Given the description of an element on the screen output the (x, y) to click on. 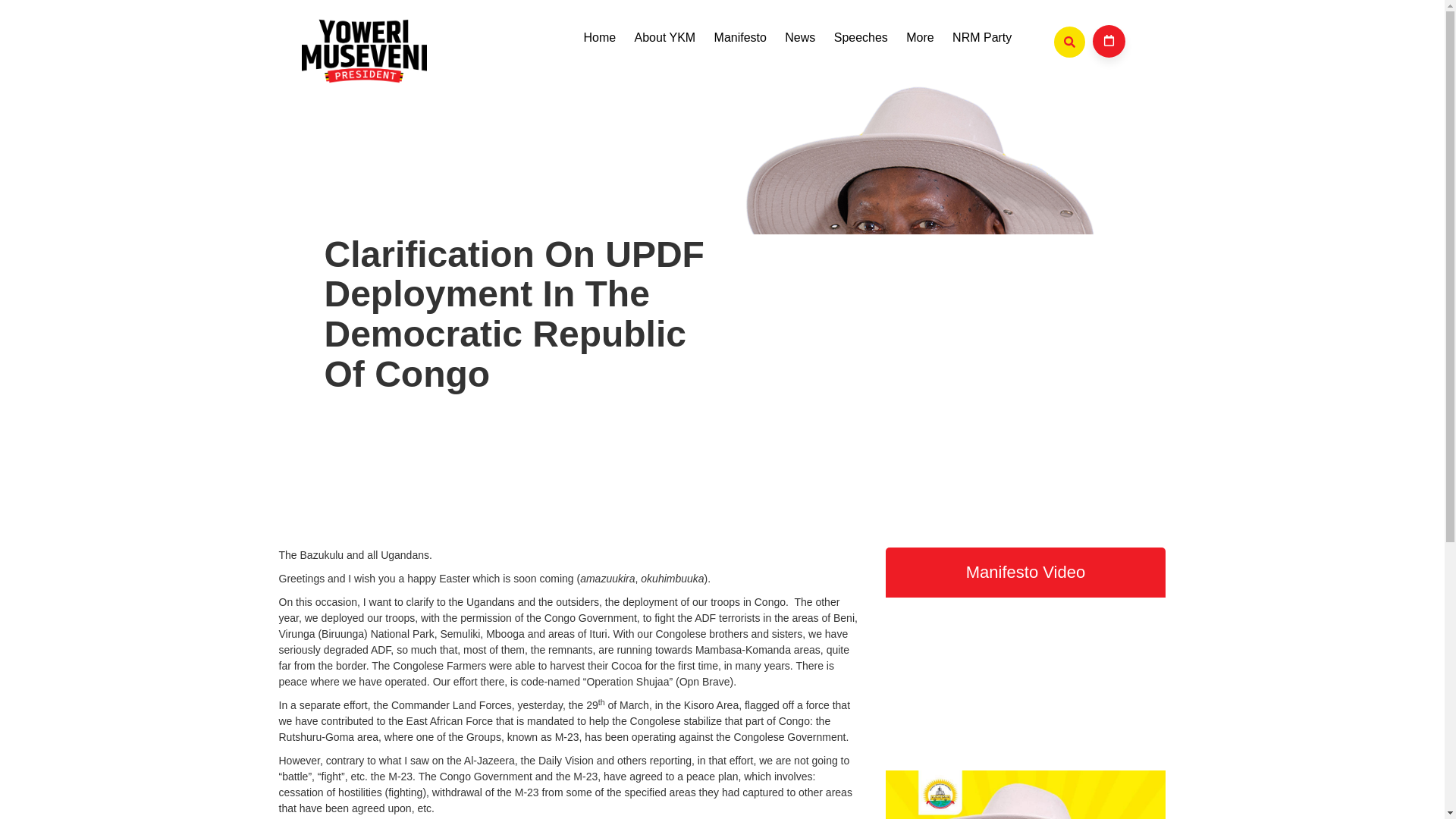
Embedded video for Developing the industrial sector (1025, 676)
Home (598, 37)
Speeches (861, 37)
About YKM (664, 37)
logo (363, 50)
Manifesto (739, 37)
NRM Party (982, 37)
News (799, 37)
